Given the description of an element on the screen output the (x, y) to click on. 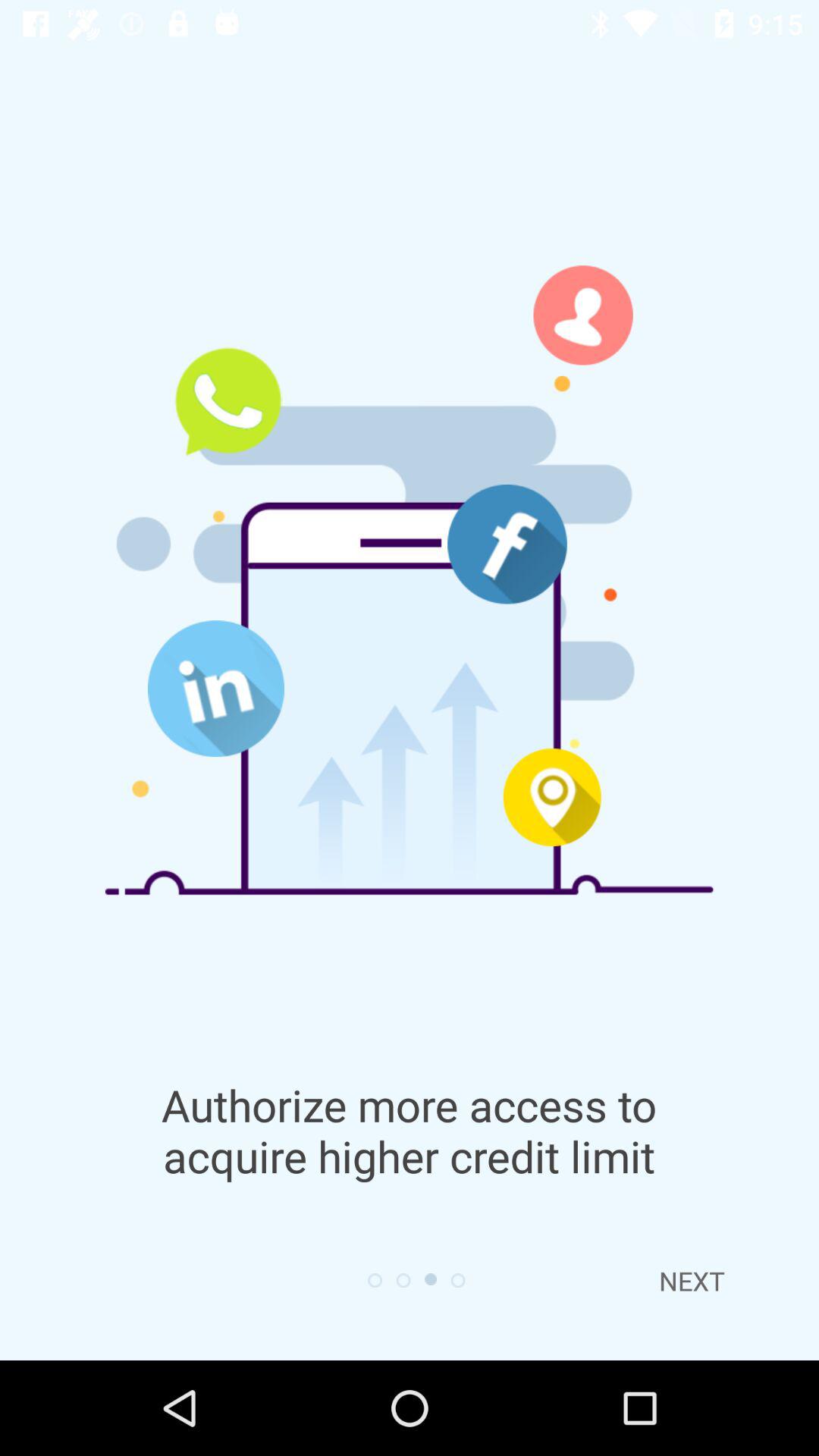
scroll until next (691, 1280)
